Given the description of an element on the screen output the (x, y) to click on. 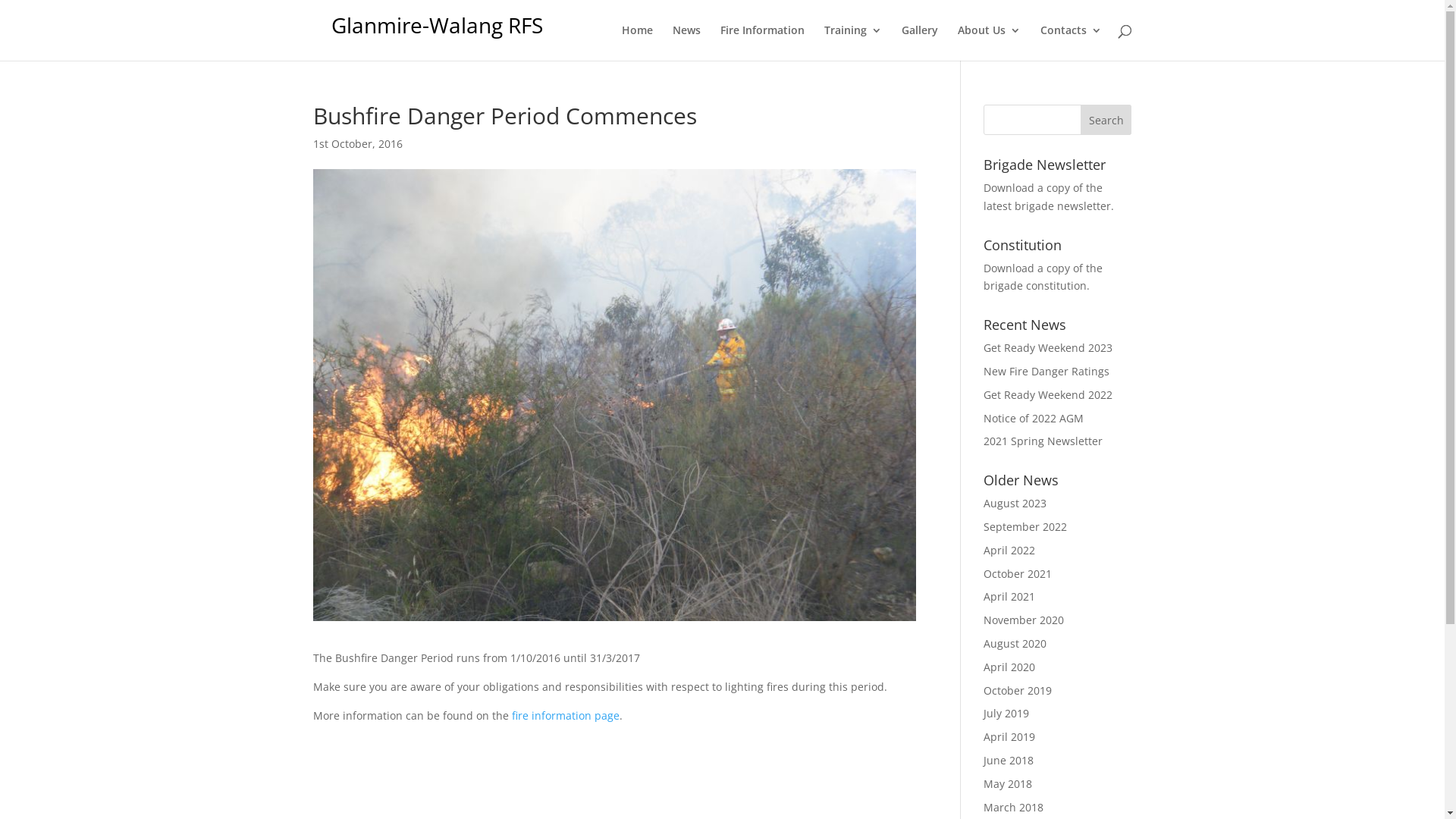
November 2020 Element type: text (1023, 619)
News Element type: text (685, 42)
March 2018 Element type: text (1013, 807)
Download a copy of the latest brigade newsletter. Element type: text (1048, 196)
fire information page Element type: text (564, 715)
April 2019 Element type: text (1009, 736)
June 2018 Element type: text (1008, 760)
About Us Element type: text (988, 42)
Glanmire-Walang RFS Element type: text (436, 24)
July 2019 Element type: text (1006, 713)
2021 Spring Newsletter Element type: text (1042, 440)
New Fire Danger Ratings Element type: text (1046, 371)
Home Element type: text (636, 42)
Get Ready Weekend 2023 Element type: text (1047, 347)
September 2022 Element type: text (1024, 526)
Gallery Element type: text (918, 42)
April 2022 Element type: text (1009, 549)
October 2019 Element type: text (1017, 690)
April 2021 Element type: text (1009, 596)
Contacts Element type: text (1070, 42)
Get Ready Weekend 2022 Element type: text (1047, 394)
April 2020 Element type: text (1009, 666)
Download a copy of the brigade constitution. Element type: text (1042, 276)
August 2020 Element type: text (1014, 643)
October 2021 Element type: text (1017, 573)
August 2023 Element type: text (1014, 502)
Search Element type: text (1106, 119)
Notice of 2022 AGM Element type: text (1033, 418)
Fire Information Element type: text (762, 42)
May 2018 Element type: text (1007, 783)
Training Element type: text (852, 42)
